Given the description of an element on the screen output the (x, y) to click on. 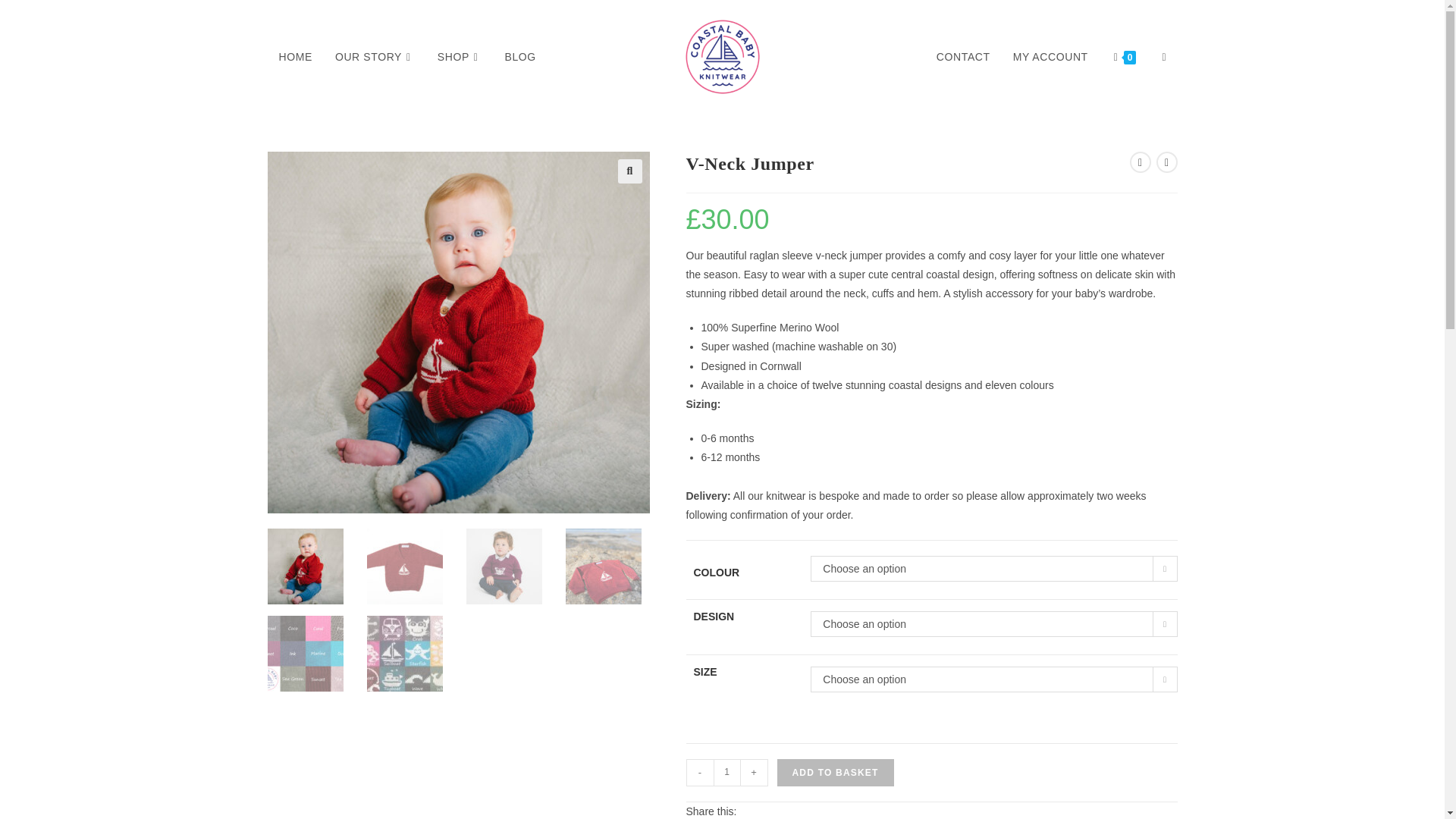
CONTACT (962, 56)
BLOG (520, 56)
OUR STORY (374, 56)
MY ACCOUNT (1050, 56)
HOME (294, 56)
1 (726, 772)
SHOP (459, 56)
